Given the description of an element on the screen output the (x, y) to click on. 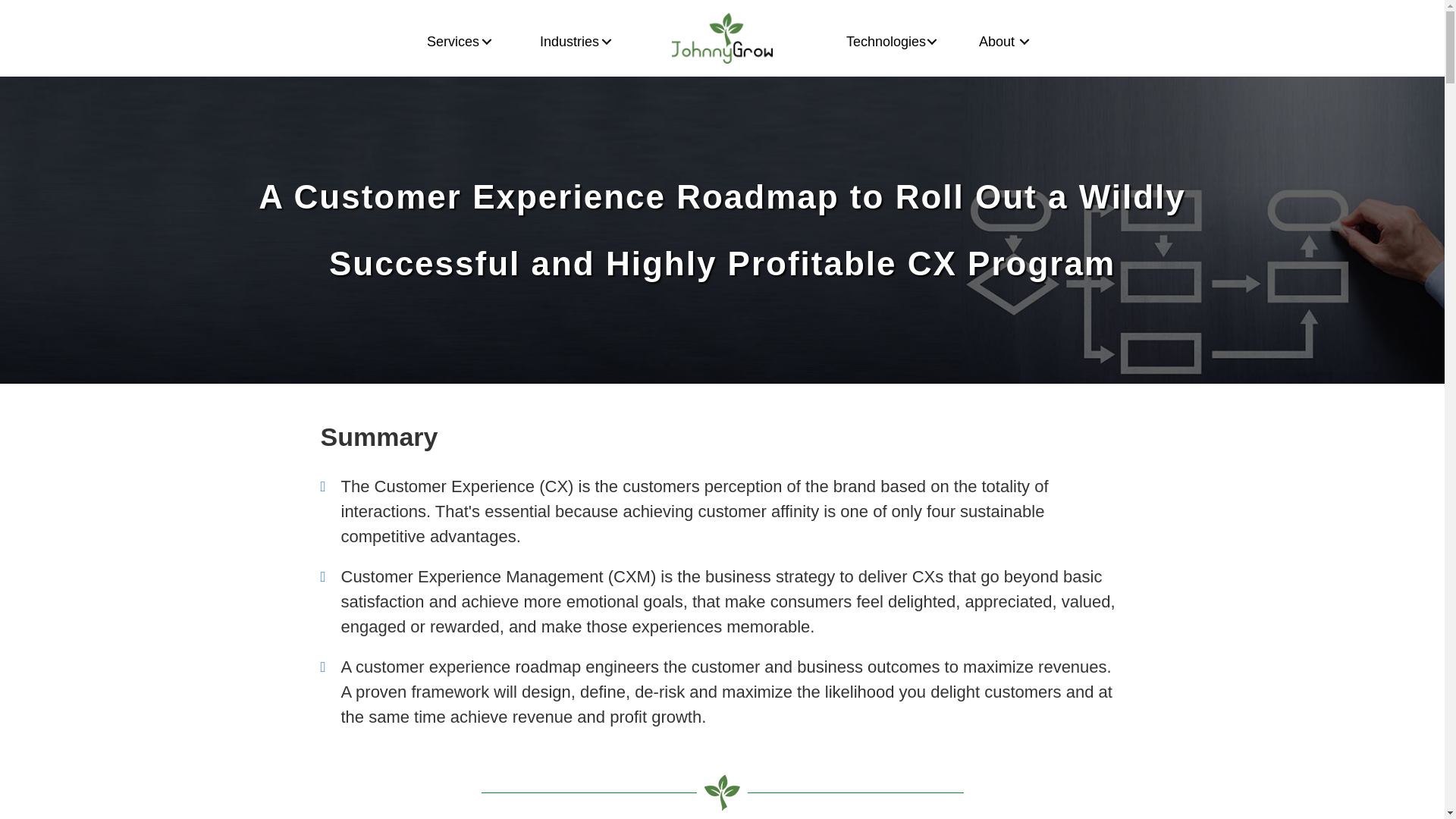
Technologies (875, 41)
Industries (556, 41)
Services (438, 41)
About (987, 41)
Johnny Grow Revenue Growth Consulting - Johnny Grow (721, 792)
Johnny Grow (722, 38)
